Given the description of an element on the screen output the (x, y) to click on. 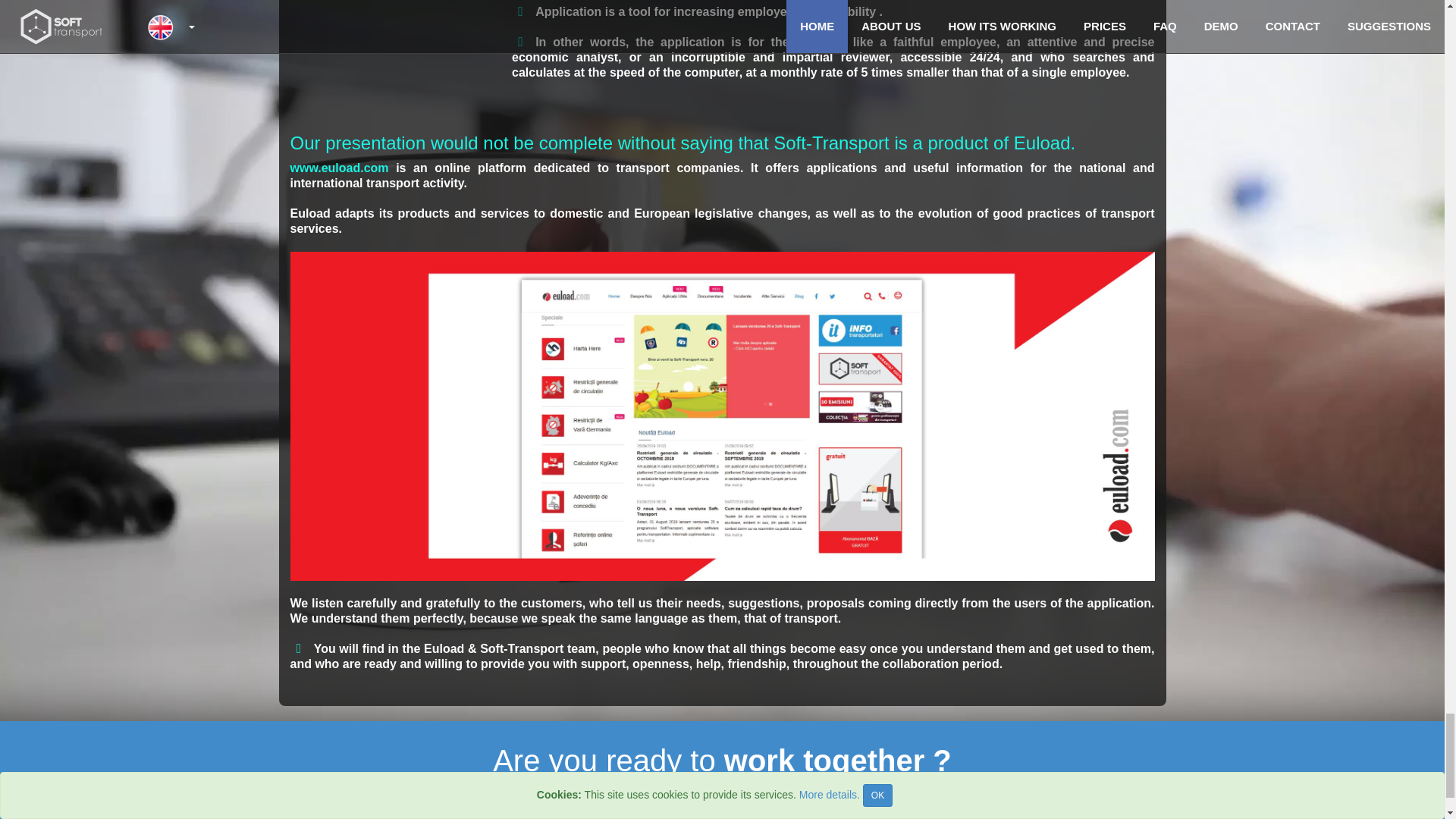
www.euload.com (338, 167)
